Given the description of an element on the screen output the (x, y) to click on. 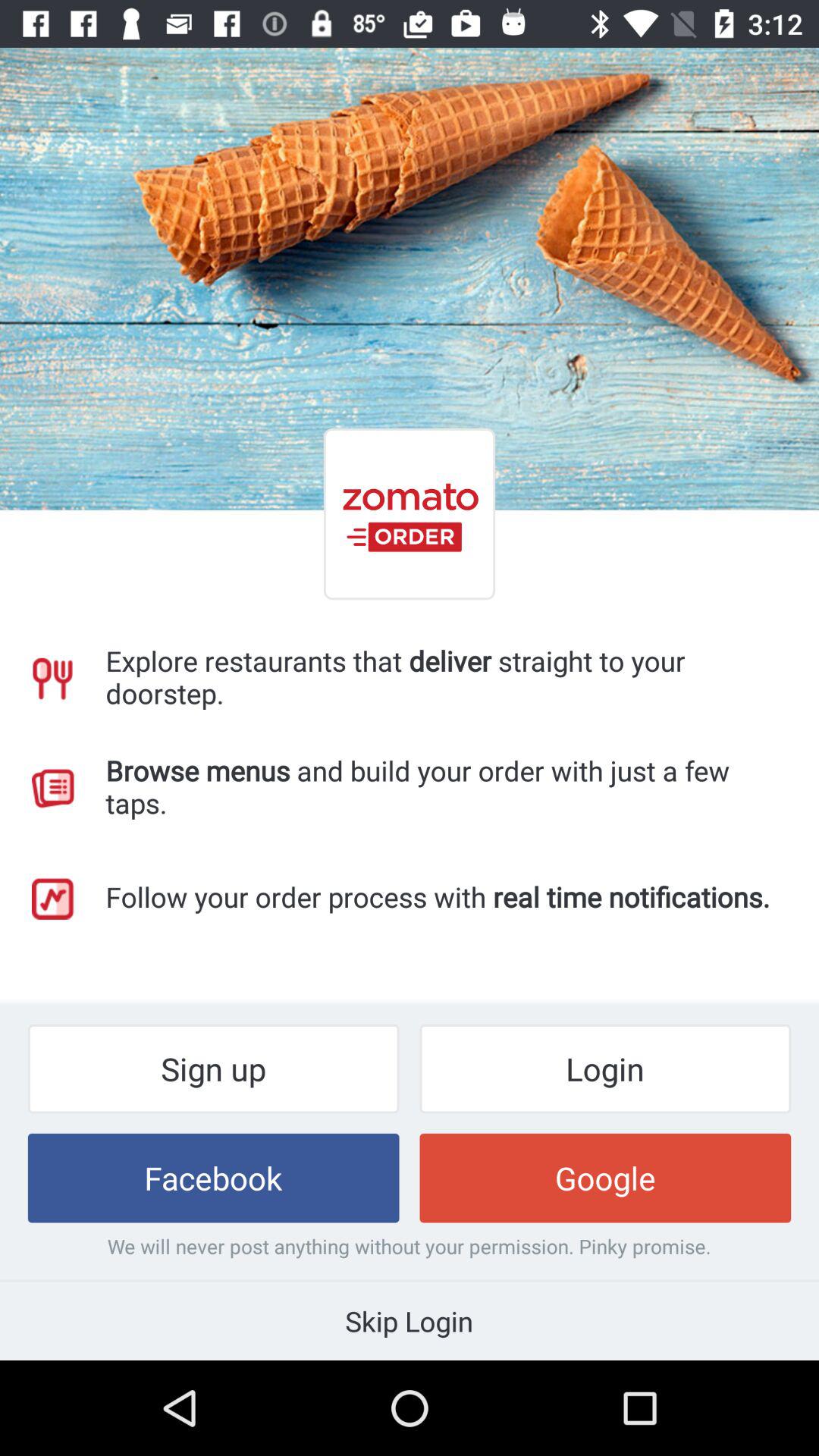
scroll to the sign up item (213, 1068)
